Given the description of an element on the screen output the (x, y) to click on. 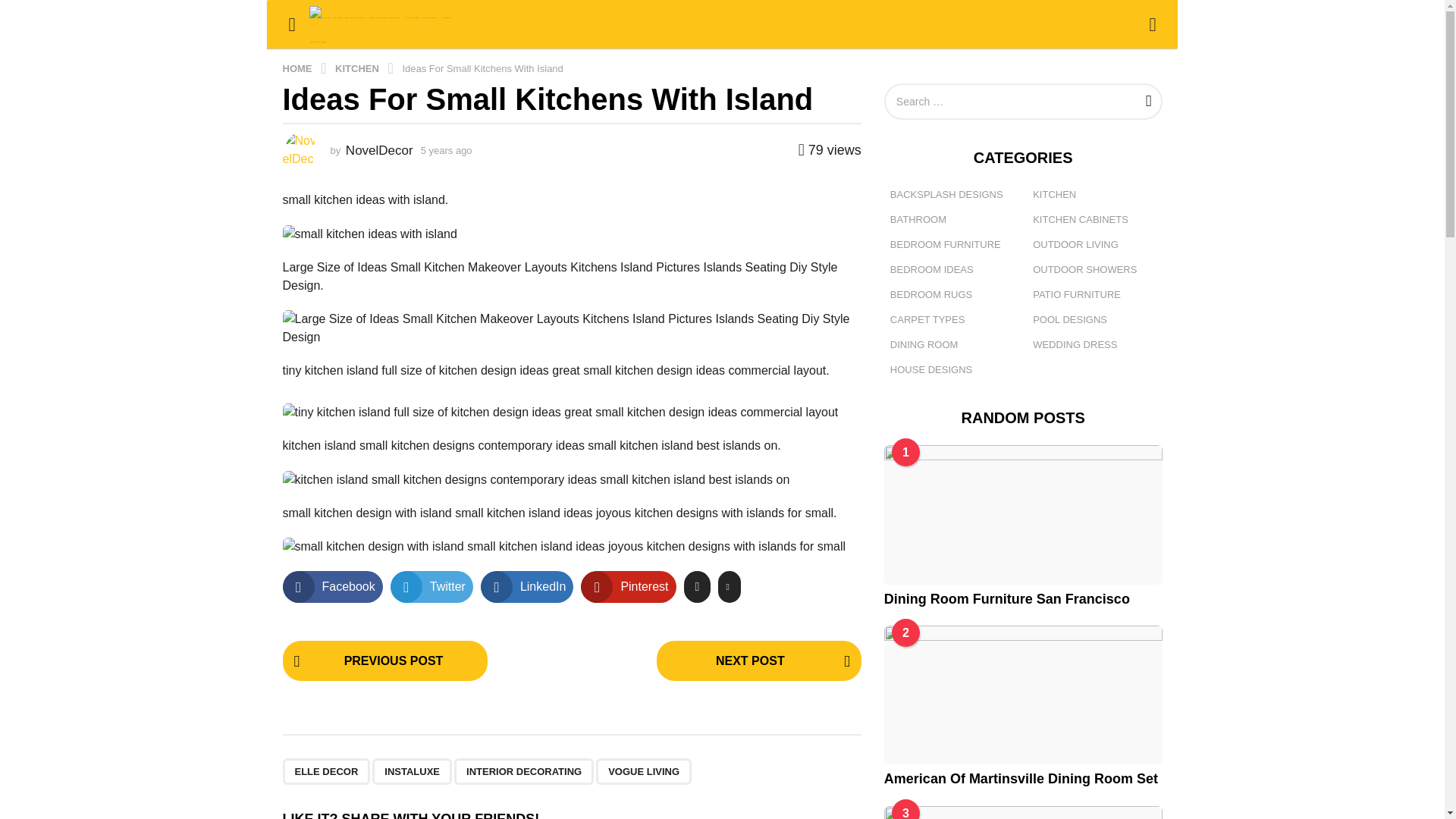
American Of Martinsville Dining Room Set (1022, 694)
Dining Room Furniture San Francisco (1022, 514)
Goo Gone Patio Furniture Cleaner Home Depot (1022, 812)
